Given the description of an element on the screen output the (x, y) to click on. 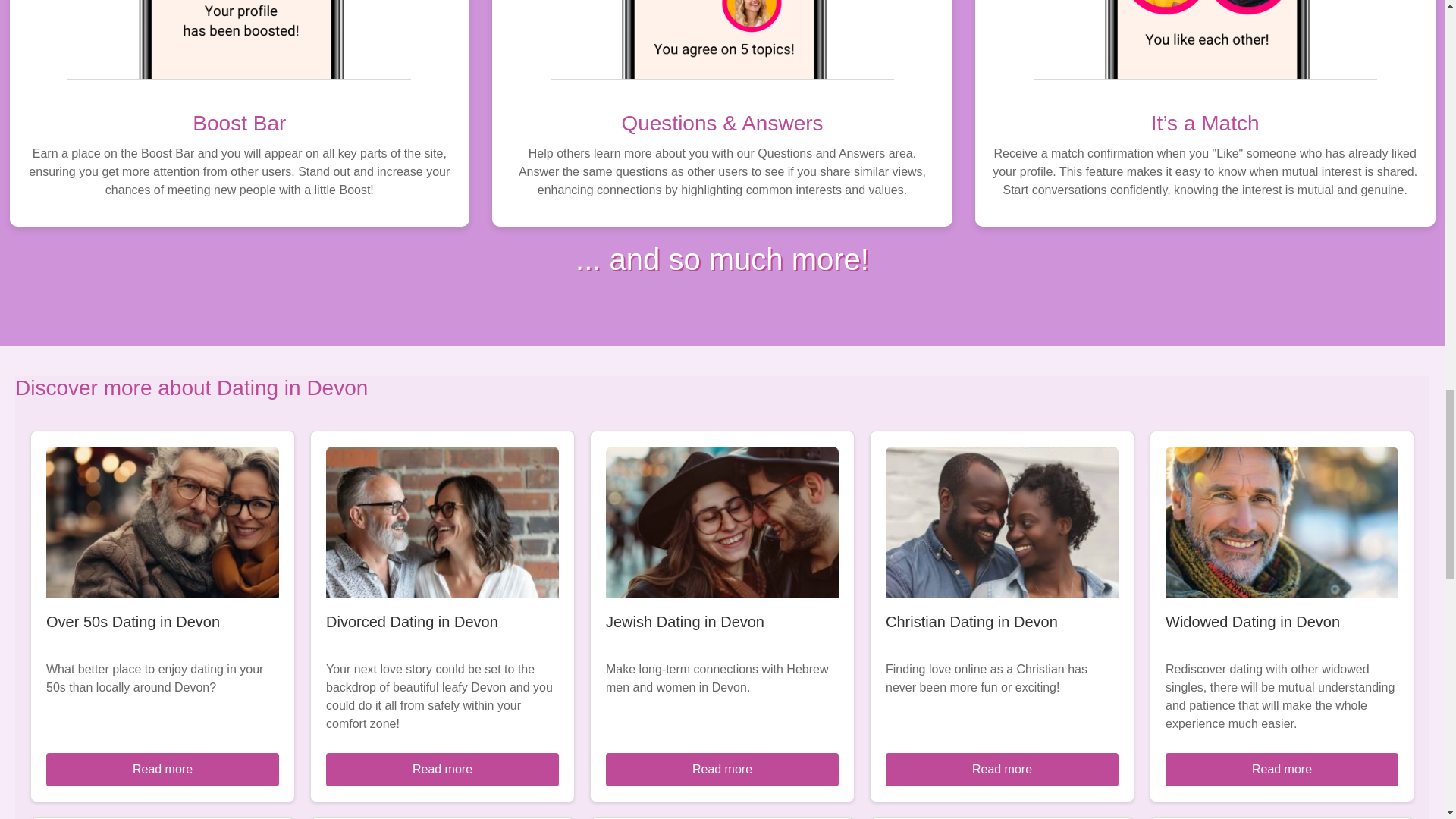
Read more (162, 769)
Read more (721, 769)
Read more (442, 769)
Read more (1001, 769)
Read more (1281, 769)
